Given the description of an element on the screen output the (x, y) to click on. 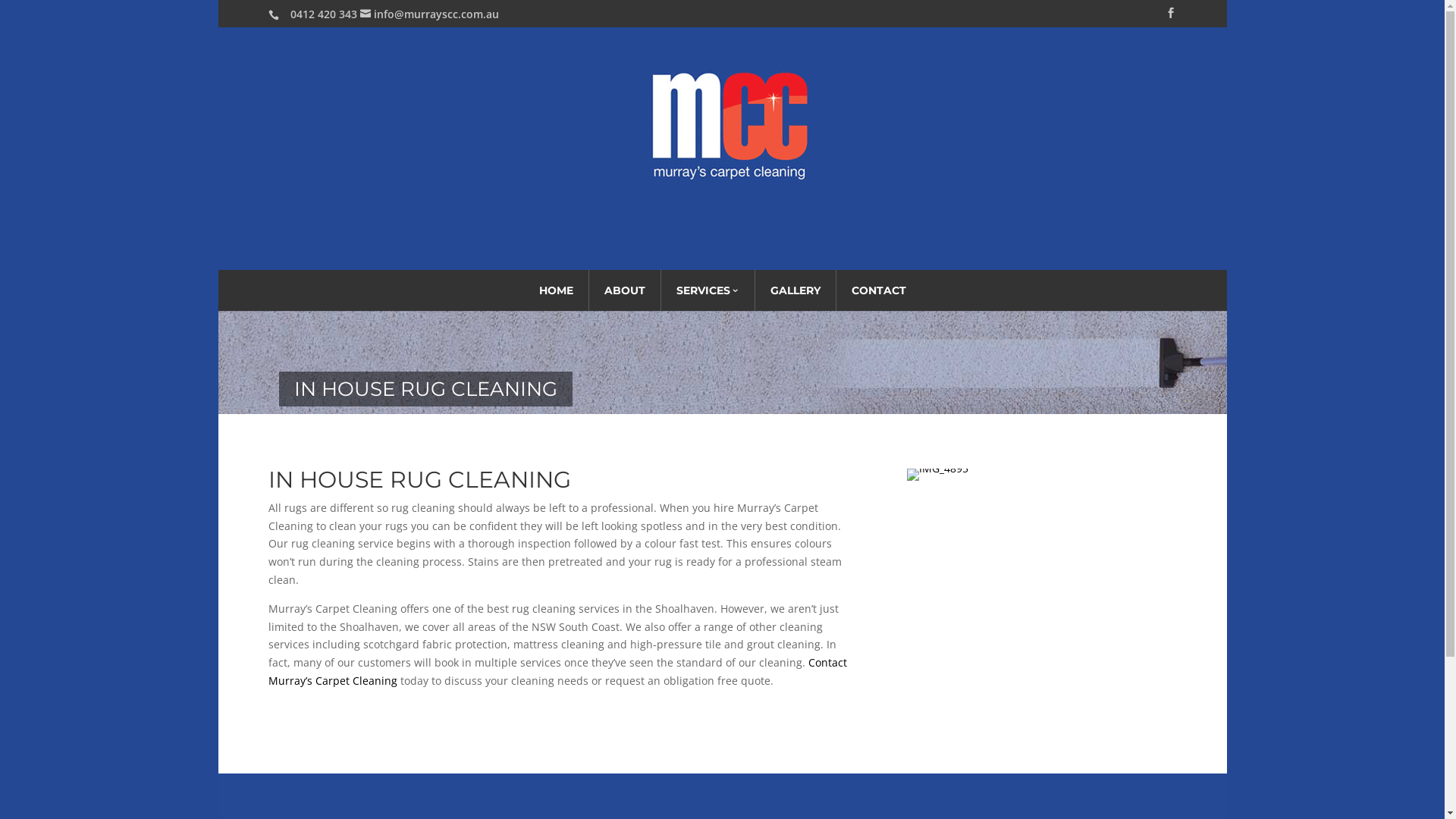
ABOUT Element type: text (623, 289)
GALLERY Element type: text (795, 289)
CONTACT Element type: text (877, 289)
info@murrayscc.com.au Element type: text (429, 13)
IMG_4895 Element type: hover (937, 468)
HOME Element type: text (555, 289)
0412 420 343 Element type: text (323, 13)
SERVICES Element type: text (707, 289)
